Given the description of an element on the screen output the (x, y) to click on. 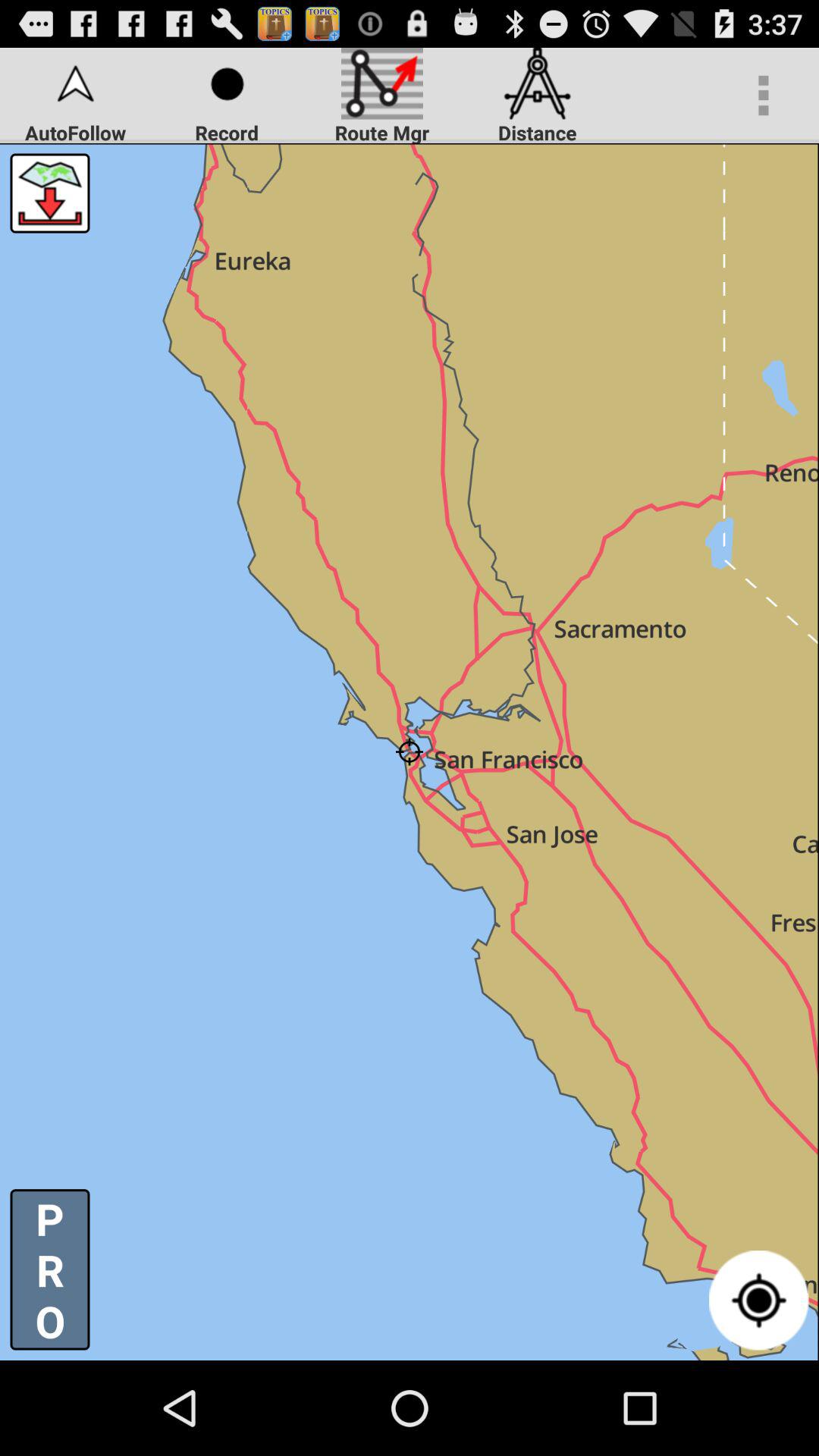
enable location tracking (758, 1300)
